Given the description of an element on the screen output the (x, y) to click on. 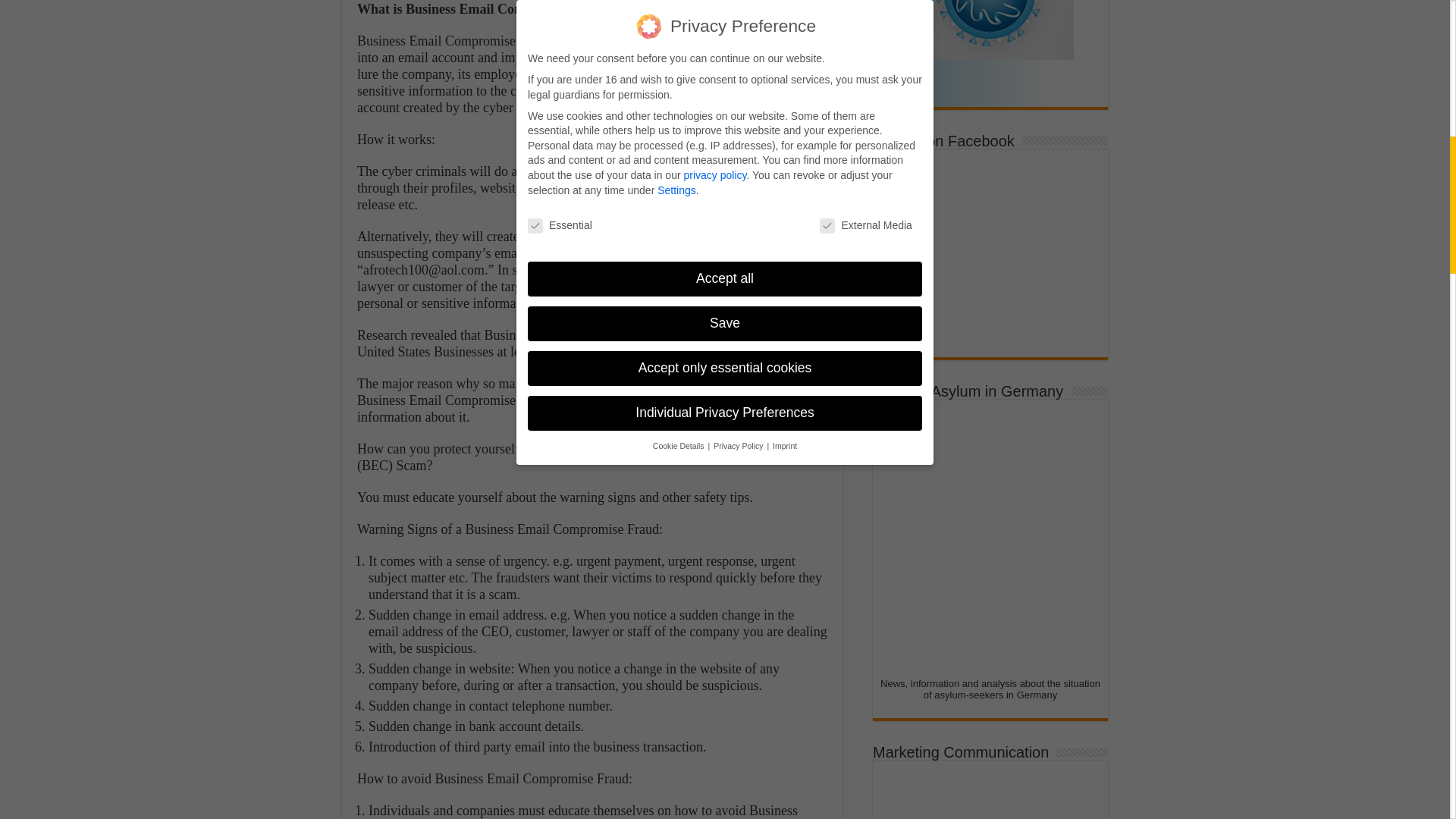
Scroll To Top (1427, 60)
